Given the description of an element on the screen output the (x, y) to click on. 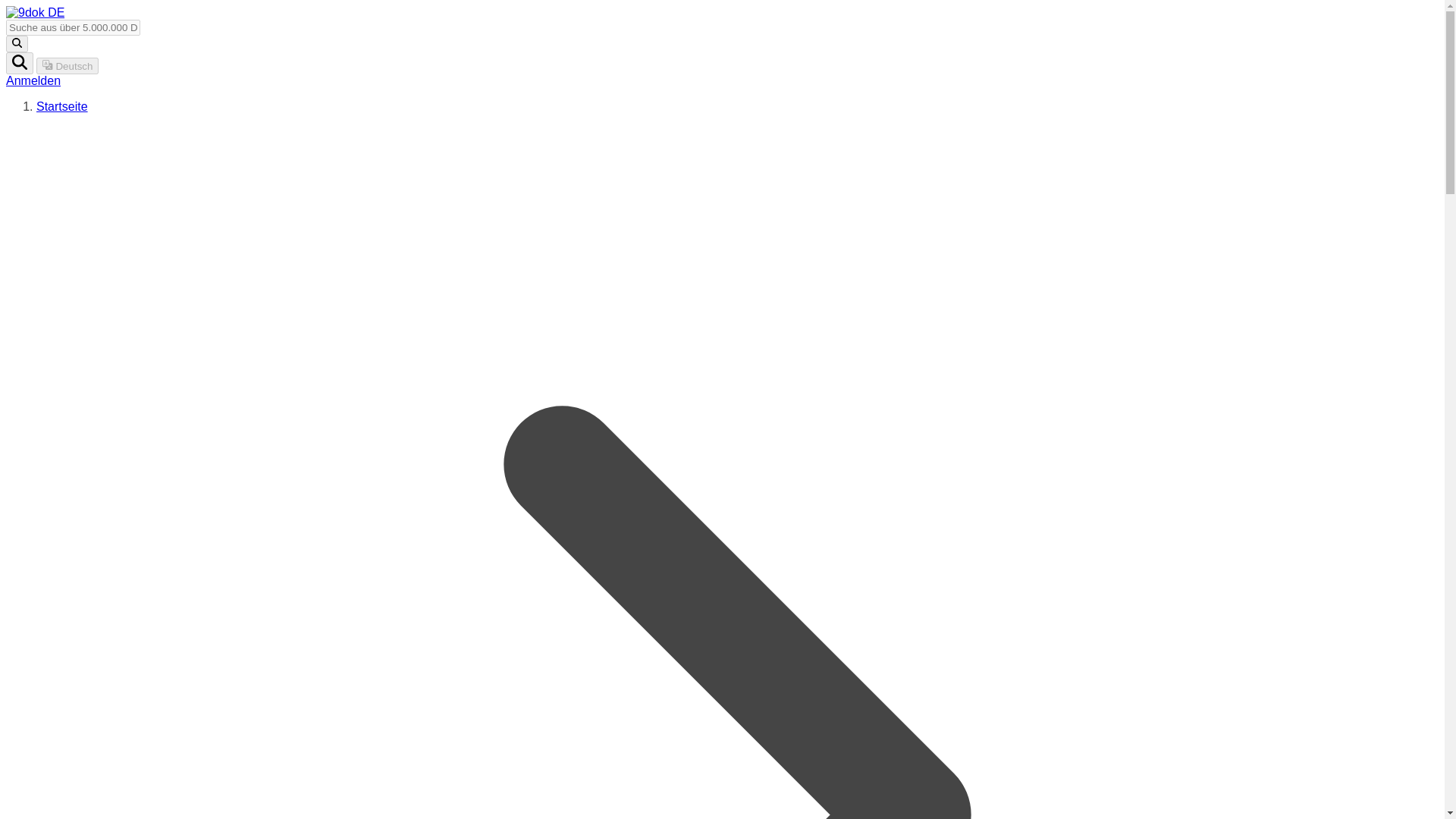
Suche (16, 44)
Suche (19, 63)
Deutsch (67, 65)
Startseite (61, 106)
Anmelden (33, 80)
